Given the description of an element on the screen output the (x, y) to click on. 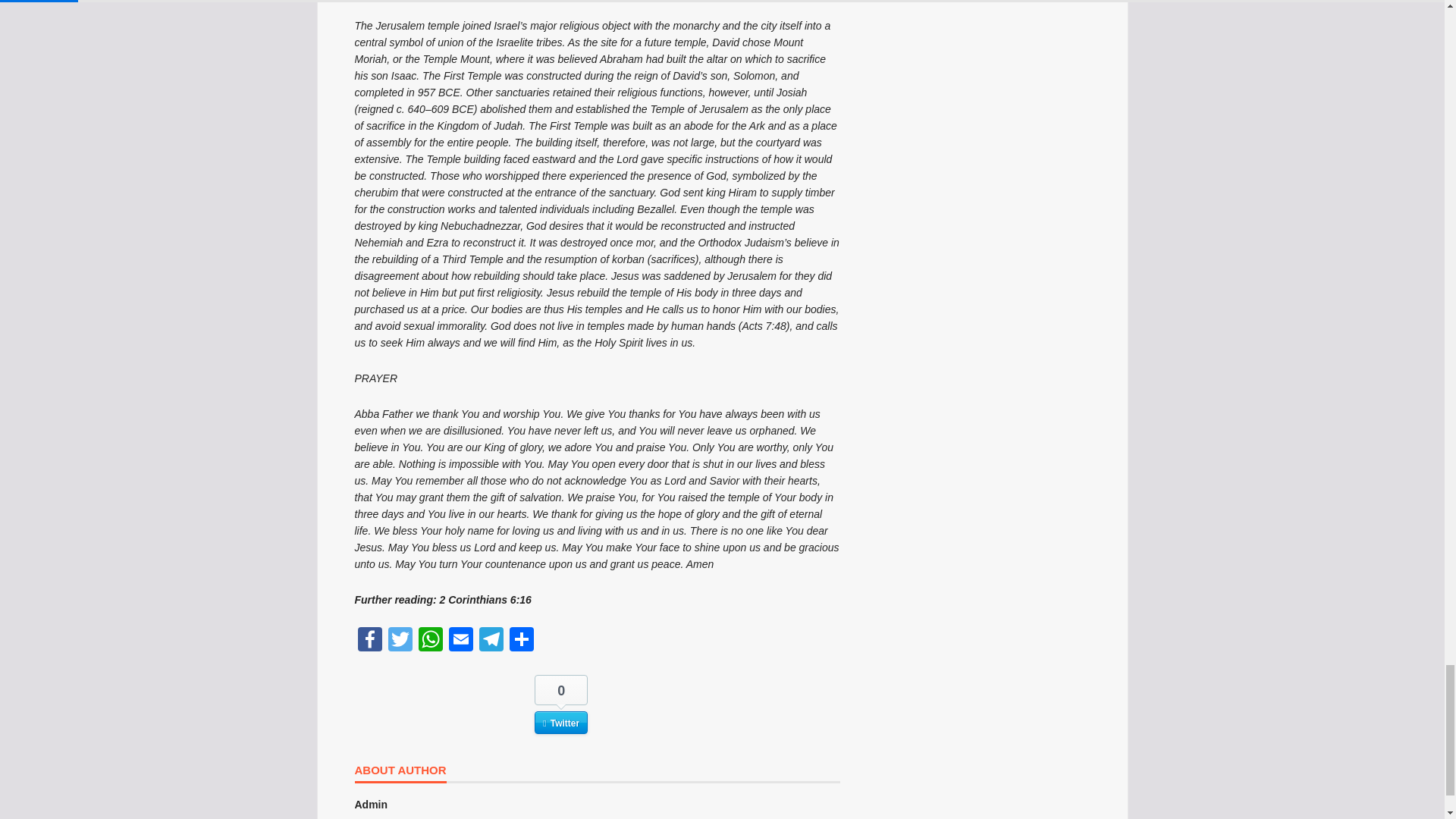
Twitter (399, 641)
Telegram (491, 641)
Facebook (370, 641)
Telegram (491, 641)
Facebook (370, 641)
WhatsApp (429, 641)
Email (460, 641)
WhatsApp (429, 641)
Twitter (399, 641)
Email (460, 641)
